Given the description of an element on the screen output the (x, y) to click on. 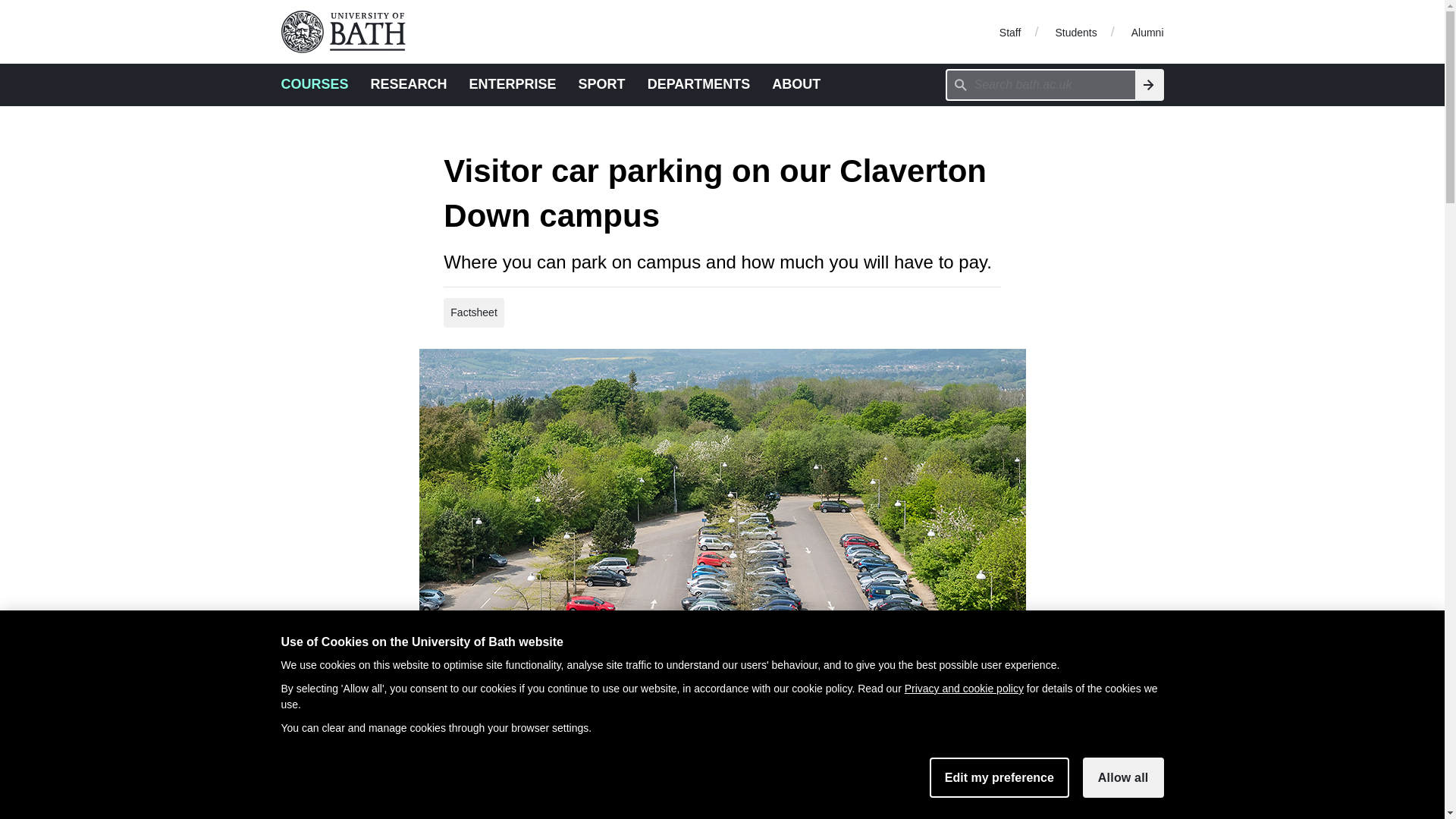
Staff (1010, 31)
Alumni (1147, 31)
University of Bath (348, 31)
COURSES (314, 83)
Students (1075, 31)
RESEARCH (408, 83)
SPORT (602, 83)
Edit my preference (999, 777)
Privacy and cookie policy (963, 688)
ENTERPRISE (512, 83)
ABOUT (796, 83)
DEPARTMENTS (699, 83)
Type search term here (1039, 84)
Allow all (1123, 777)
